Given the description of an element on the screen output the (x, y) to click on. 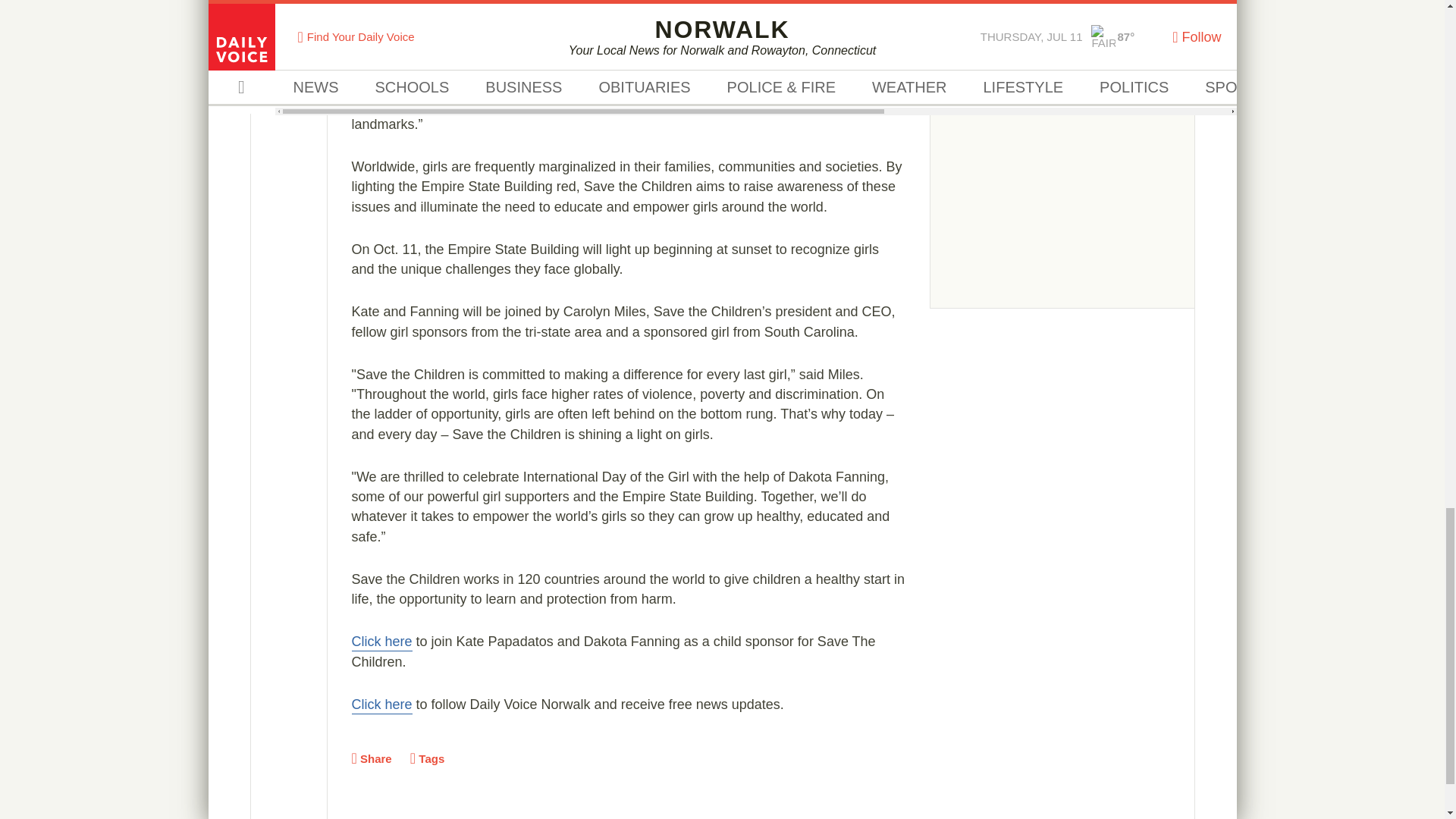
More from Pinpoint (1062, 38)
